Given the description of an element on the screen output the (x, y) to click on. 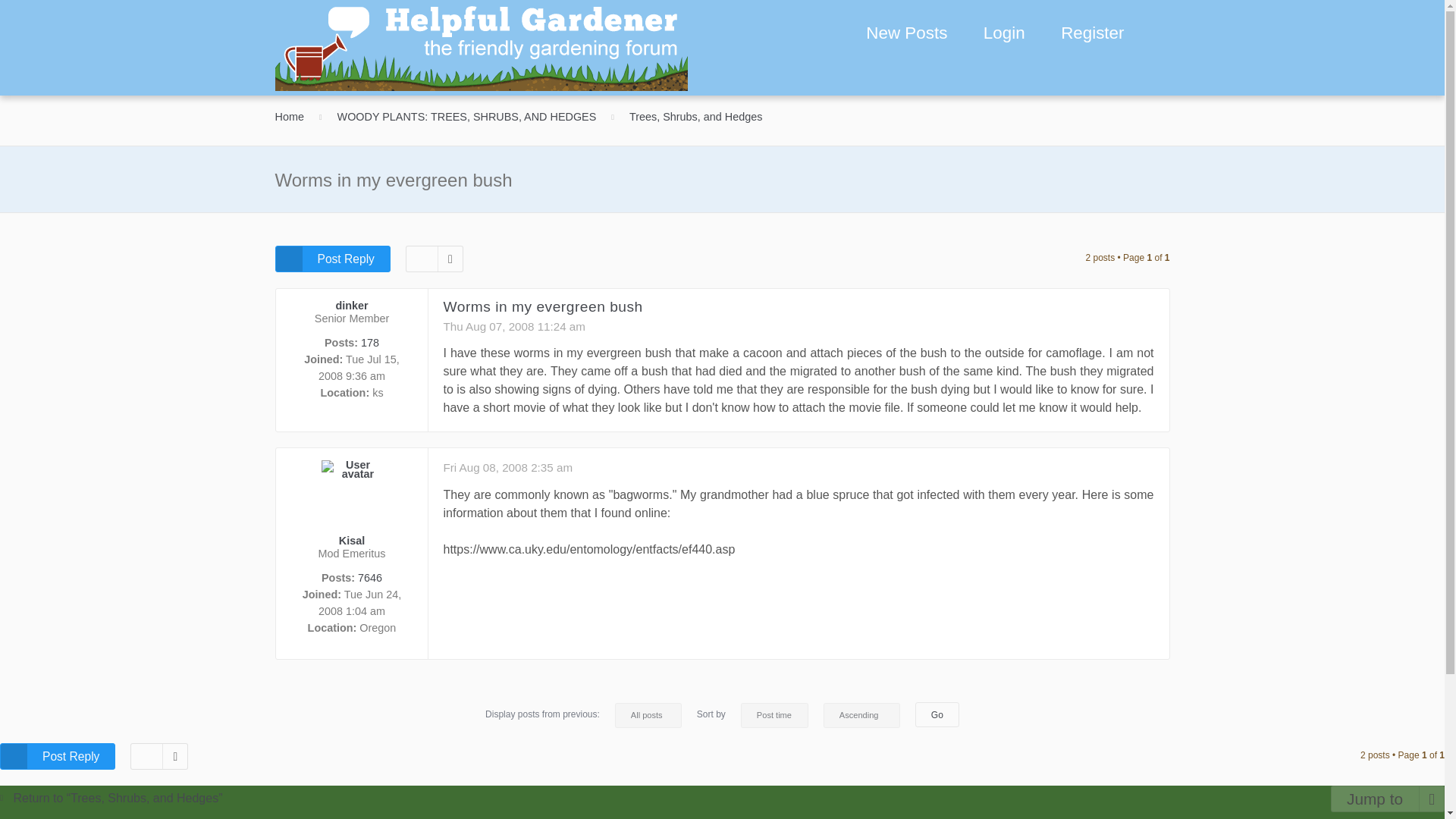
Go (937, 714)
Post a reply (57, 755)
Topic tools (434, 258)
New Posts (906, 33)
178 (369, 342)
Worms in my evergreen bush (542, 306)
Reply with quote (1140, 316)
dinker (351, 305)
Register (1090, 34)
Fri Aug 08, 2008 2:35 am (507, 467)
